Given the description of an element on the screen output the (x, y) to click on. 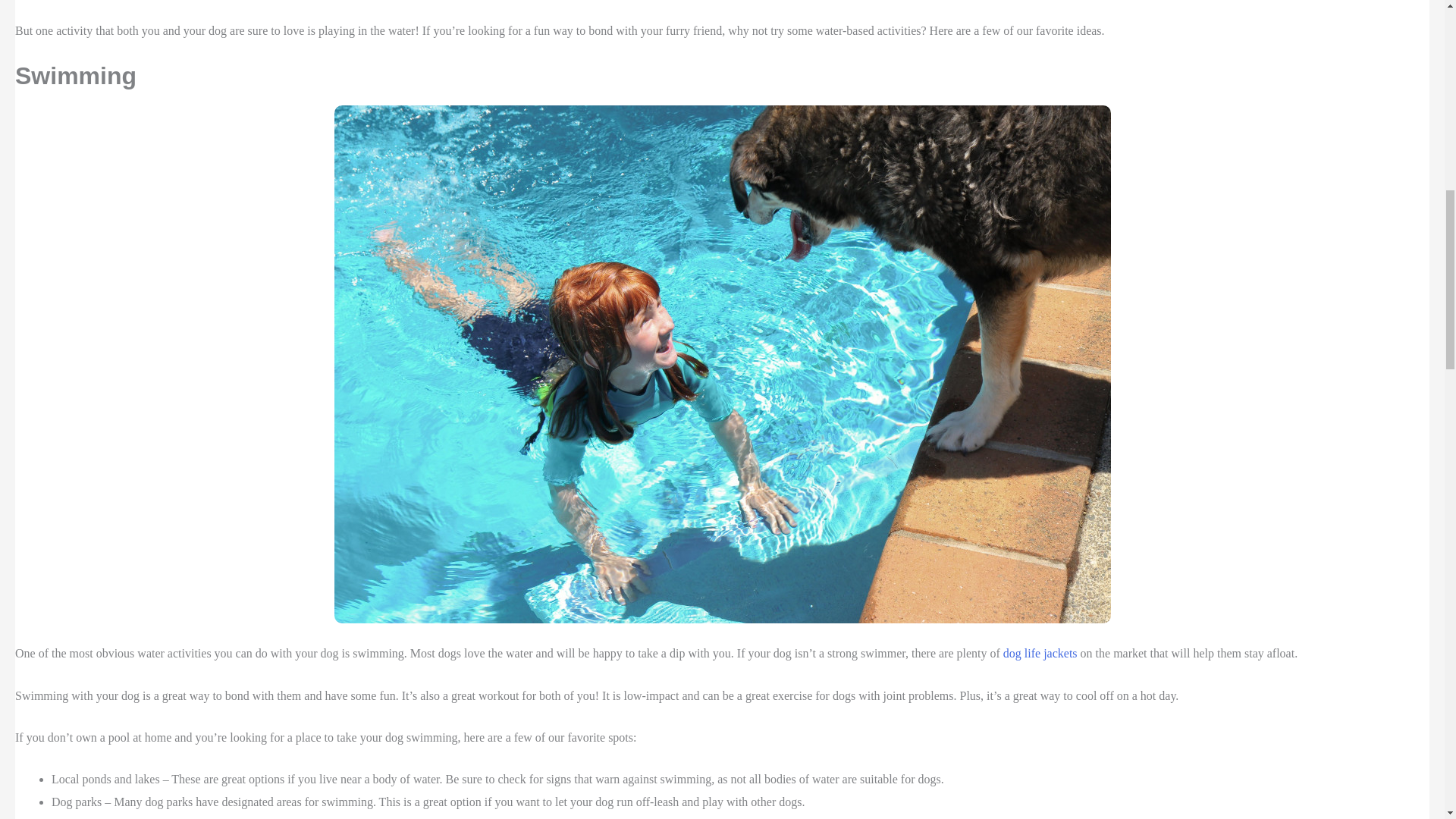
dog life jackets (1040, 653)
